Given the description of an element on the screen output the (x, y) to click on. 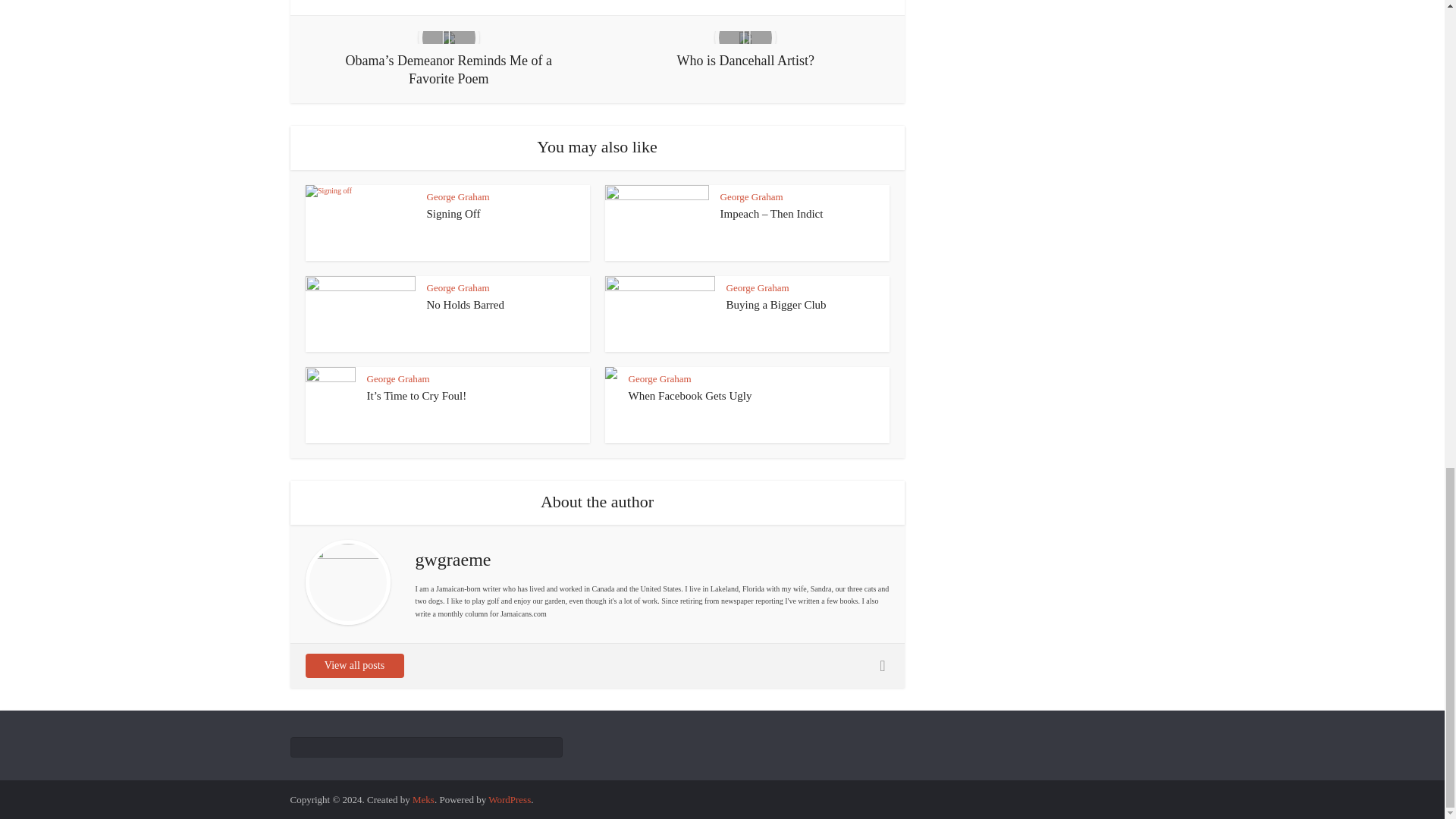
Signing Off (453, 214)
Who is Dancehall Artist? (745, 50)
Signing Off (453, 214)
George Graham (457, 287)
No Holds Barred (464, 304)
Buying a Bigger Club (776, 304)
Buying a Bigger Club (776, 304)
George Graham (757, 287)
George Graham (751, 196)
No Holds Barred (464, 304)
